Given the description of an element on the screen output the (x, y) to click on. 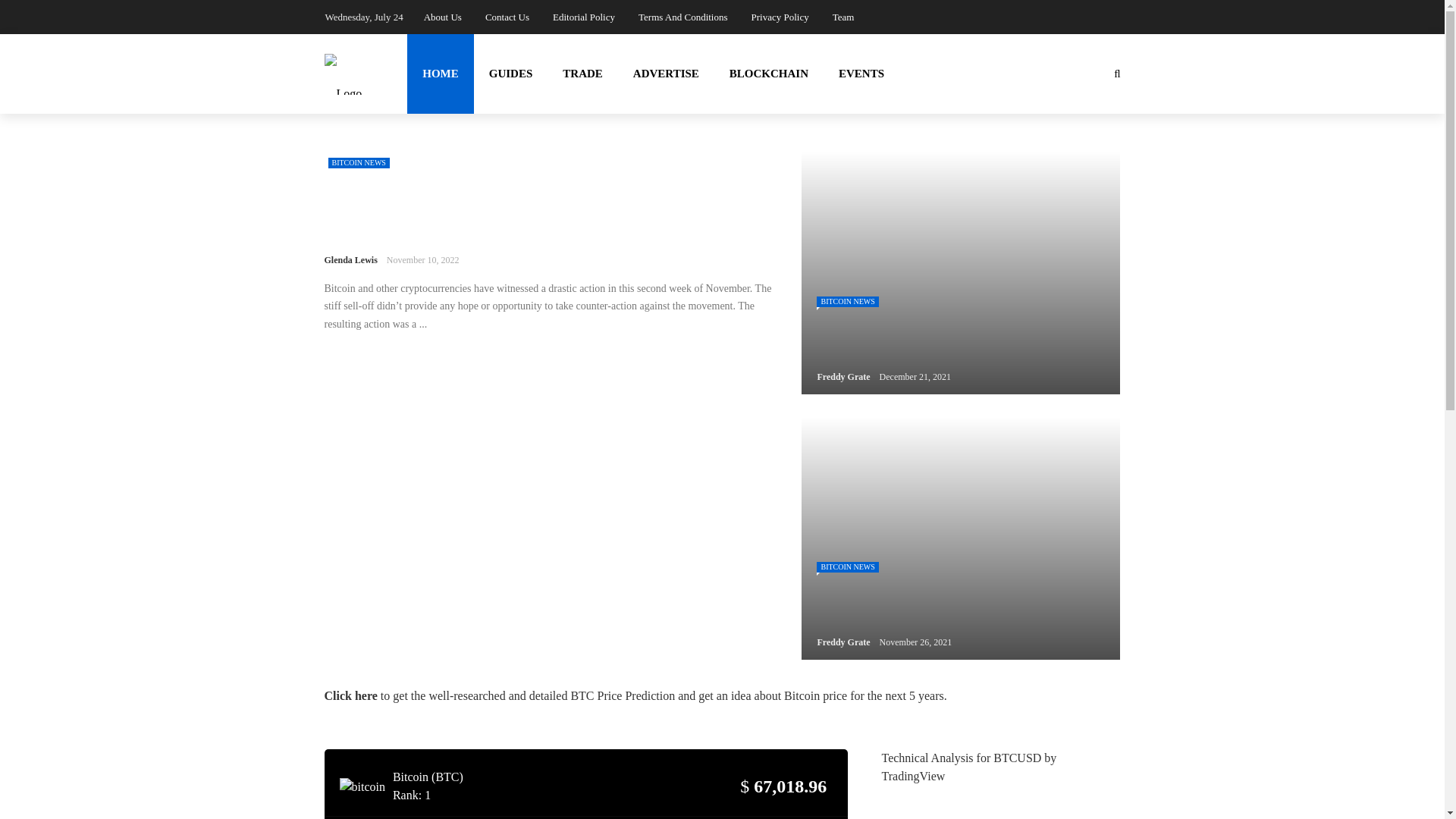
EVENTS (861, 73)
About Us (442, 16)
BITCOIN NEWS (846, 566)
Privacy Policy (780, 16)
Team (843, 16)
ADVERTISE (665, 73)
Technical Analysis for BTCUSD (960, 757)
Editorial Policy (583, 16)
Terms And Conditions (683, 16)
Freddy Grate (842, 642)
Contact Us (506, 16)
Click here (350, 695)
GUIDES (511, 73)
BITCOIN NEWS (357, 163)
BITCOIN NEWS (846, 301)
